Given the description of an element on the screen output the (x, y) to click on. 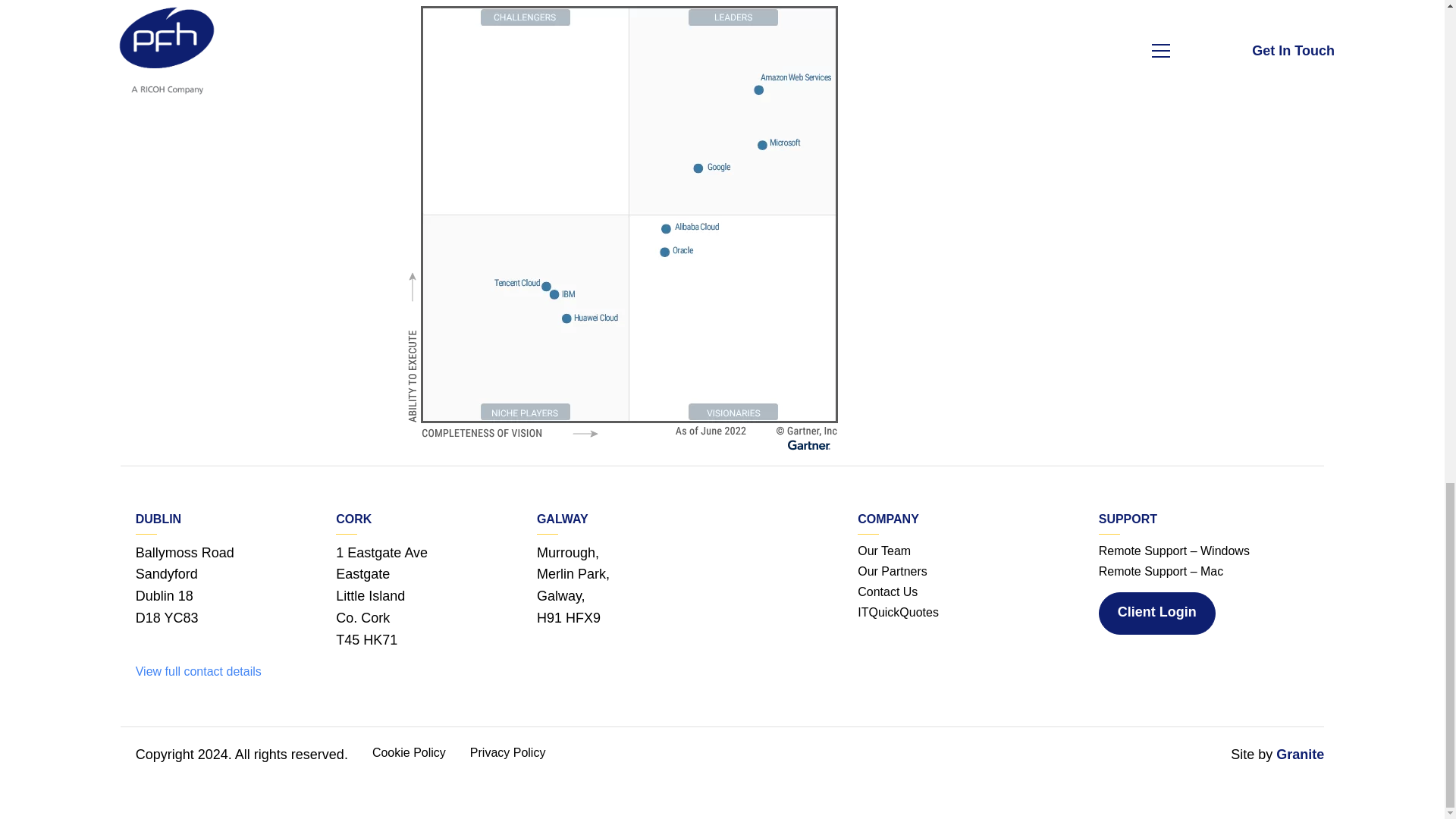
Solutions (892, 570)
View full contact details (198, 671)
Support (887, 592)
